Given the description of an element on the screen output the (x, y) to click on. 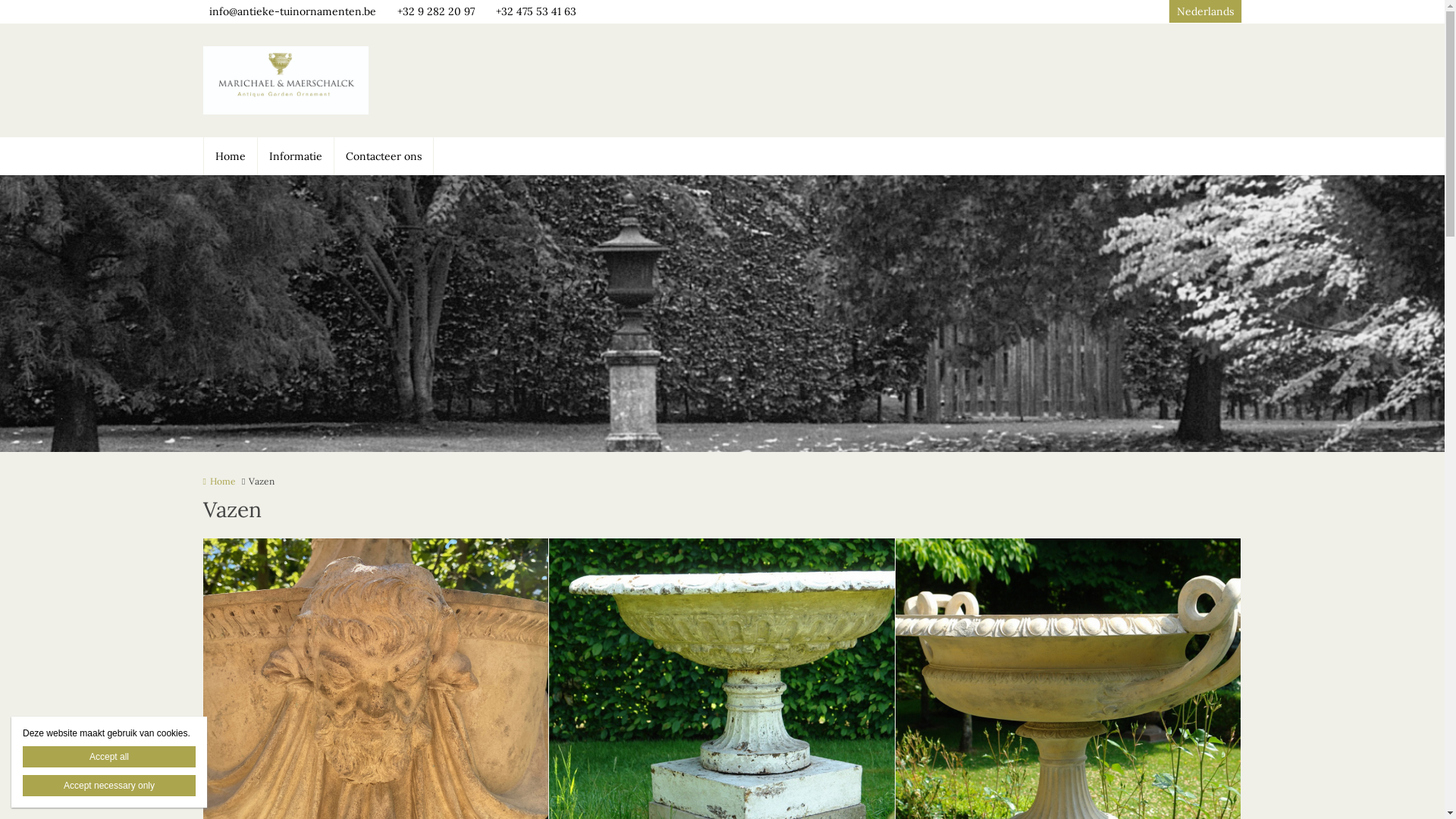
Overslaan en naar de inhoud gaan Element type: text (81, 0)
Contacteer ons Element type: text (383, 156)
Home Element type: text (230, 156)
Accept necessary only Element type: text (108, 785)
Informatie Element type: text (295, 156)
Nederlands Element type: text (1205, 11)
info@antieke-tuinornamenten.be Element type: text (293, 11)
Home | antieketuinornamenten Element type: hover (308, 79)
Home | antieketuinornamenten Element type: hover (286, 80)
+32 475 53 41 63 Element type: text (532, 11)
Accept all Element type: text (108, 756)
Home Element type: text (219, 480)
+32 9 282 20 97 Element type: text (432, 11)
